Given the description of an element on the screen output the (x, y) to click on. 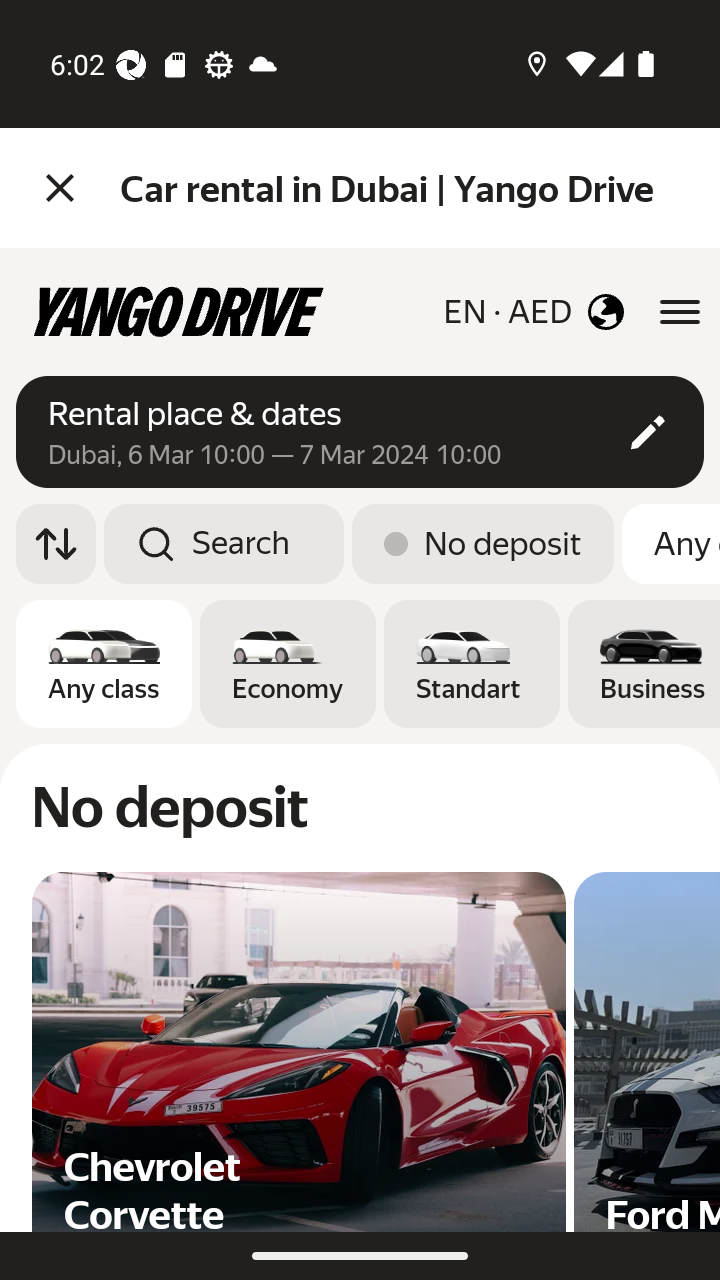
Close Car rental in Dubai | Yango Drive (360, 188)
Menu Menu Menu (64, 188)
EN · AED (533, 312)
No deposit (483, 543)
Any class (669, 543)
Any class (103, 664)
Economy (287, 664)
Standart (471, 664)
Business (644, 664)
